Given the description of an element on the screen output the (x, y) to click on. 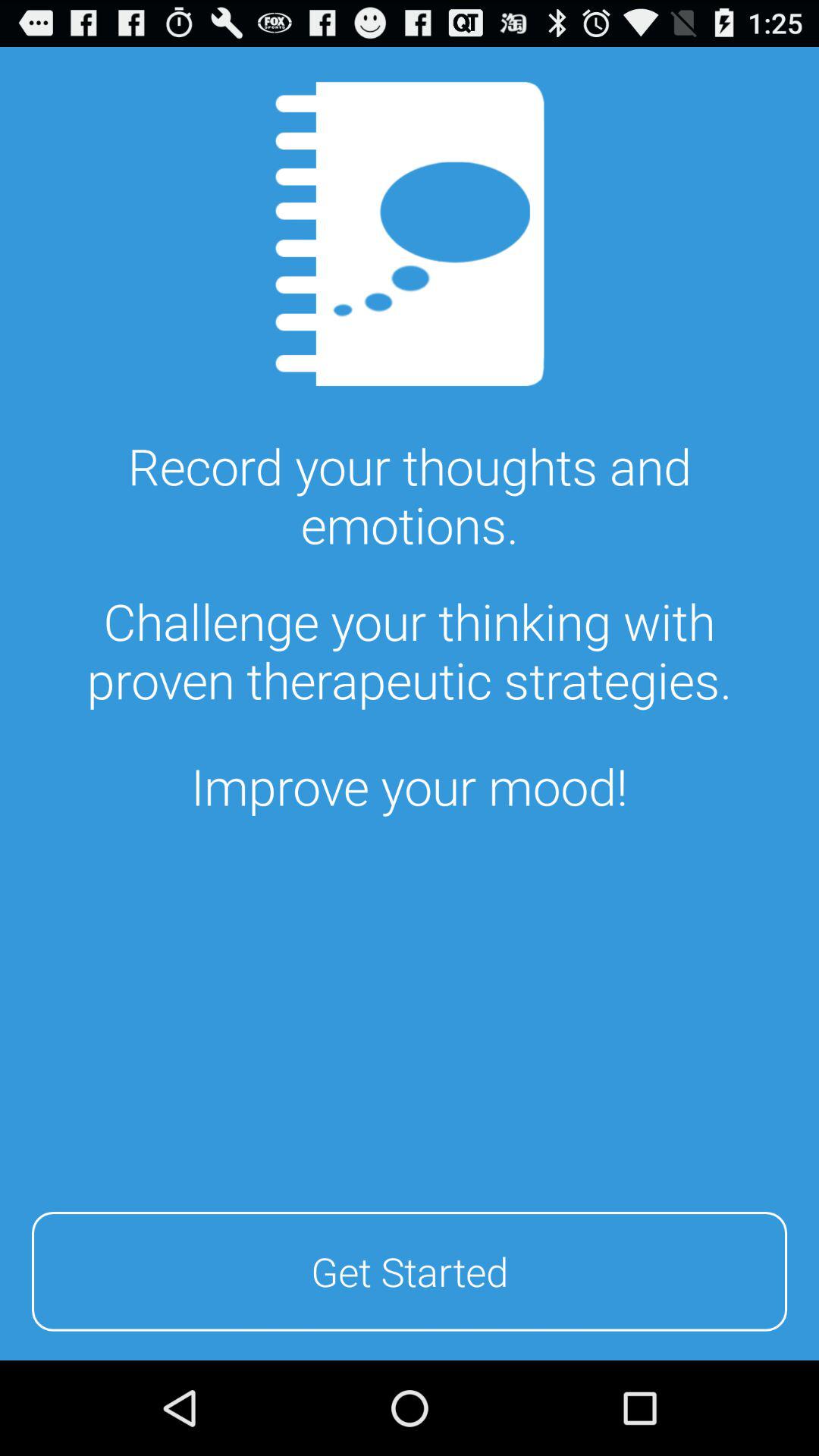
launch item below the improve your mood! (409, 1268)
